Given the description of an element on the screen output the (x, y) to click on. 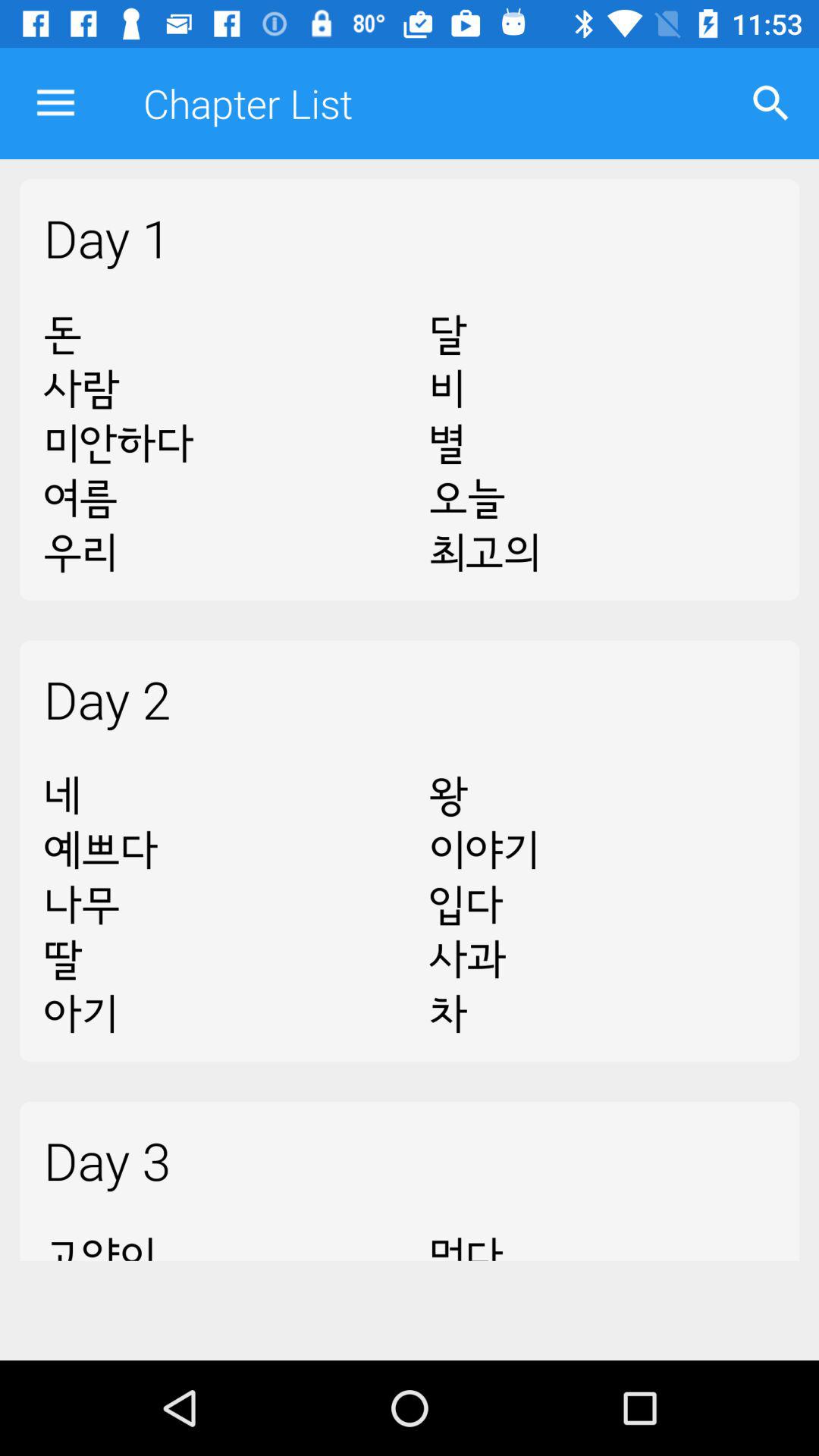
turn off the day 2 item (409, 698)
